Given the description of an element on the screen output the (x, y) to click on. 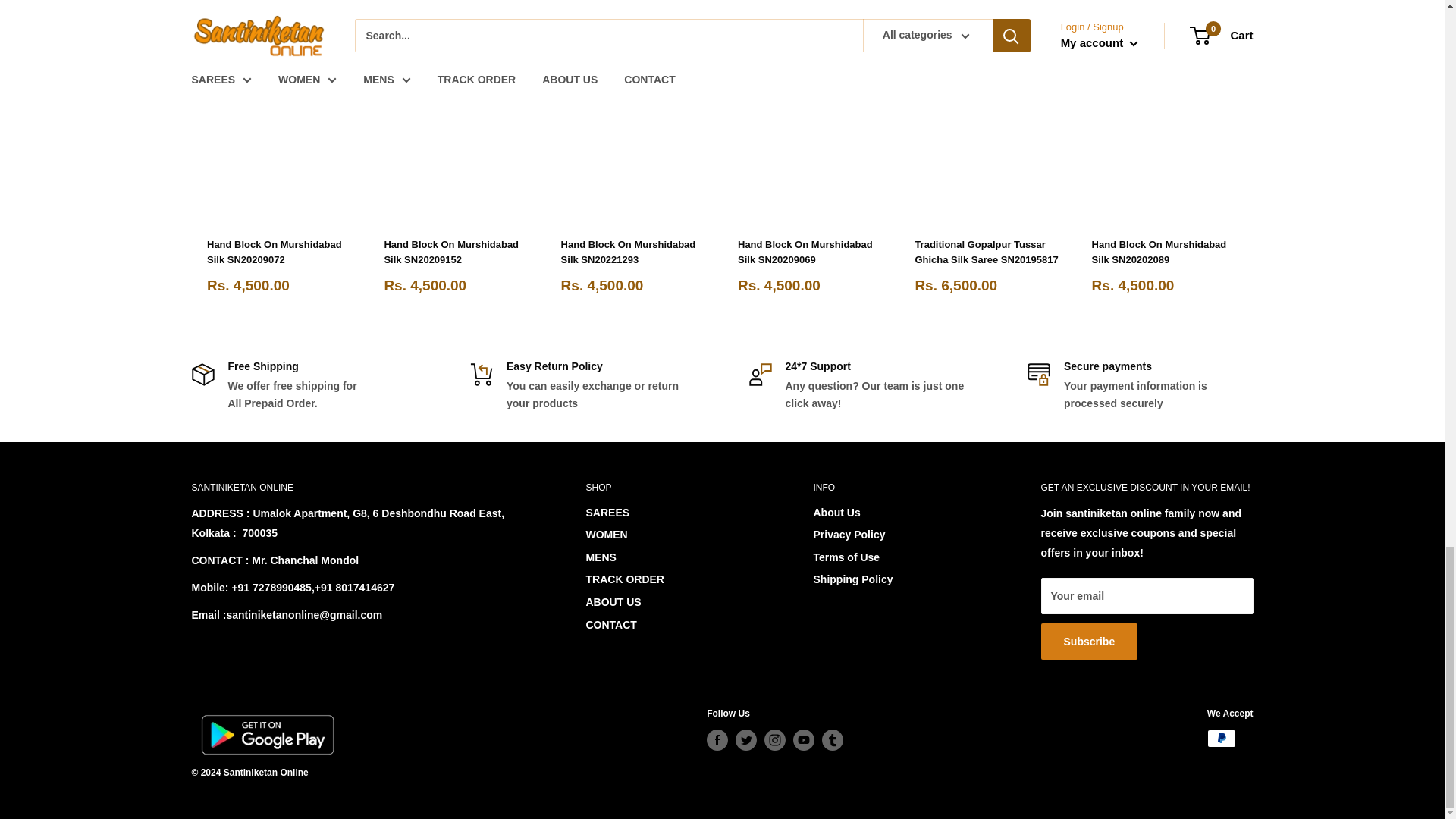
santiniketanonline (266, 734)
